Given the description of an element on the screen output the (x, y) to click on. 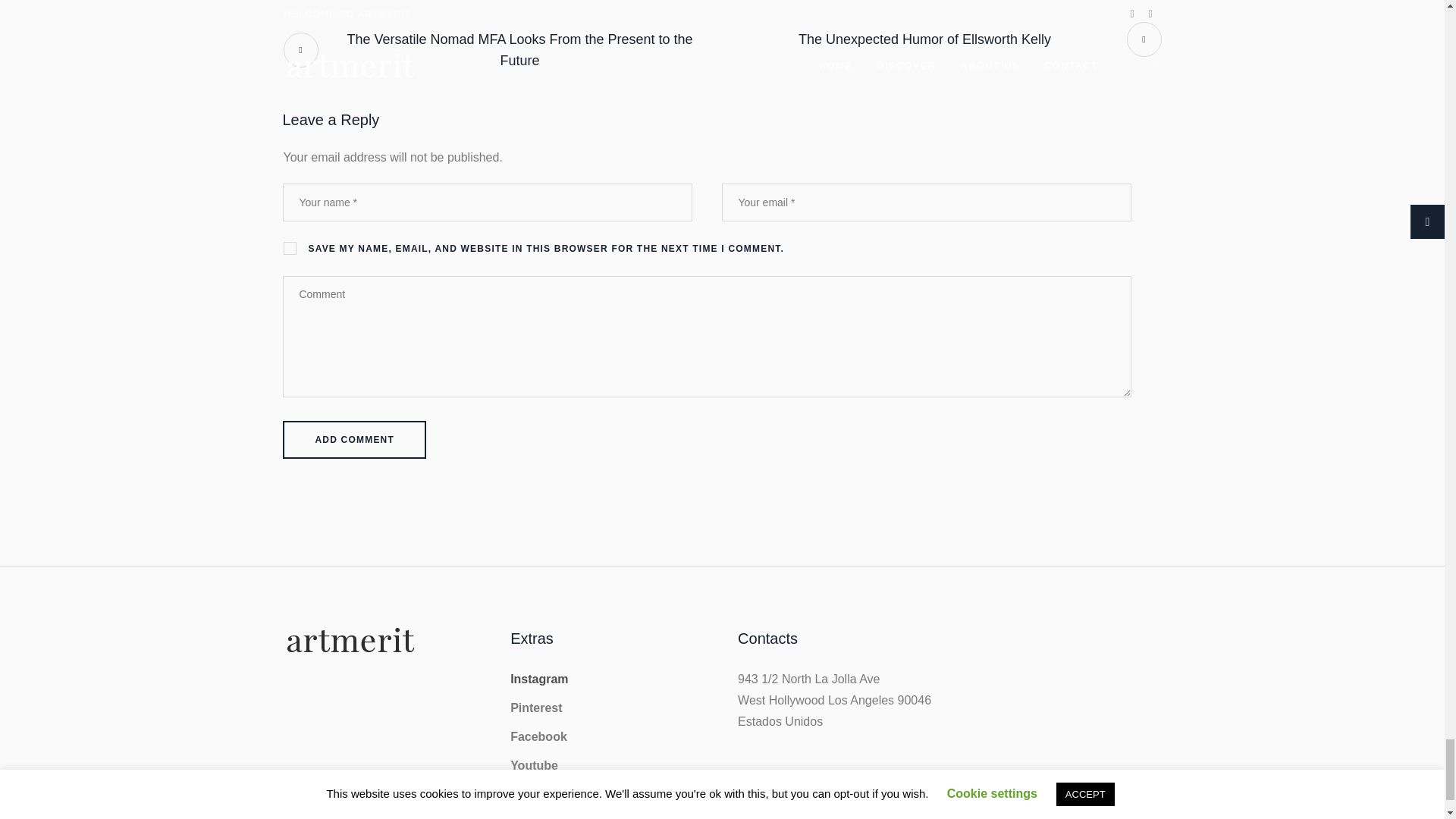
The Versatile Nomad MFA Looks From the Present to the Future (502, 49)
Add Comment (354, 439)
Add Comment (354, 439)
The Unexpected Humor of Ellsworth Kelly (941, 39)
Instagram (539, 678)
